Given the description of an element on the screen output the (x, y) to click on. 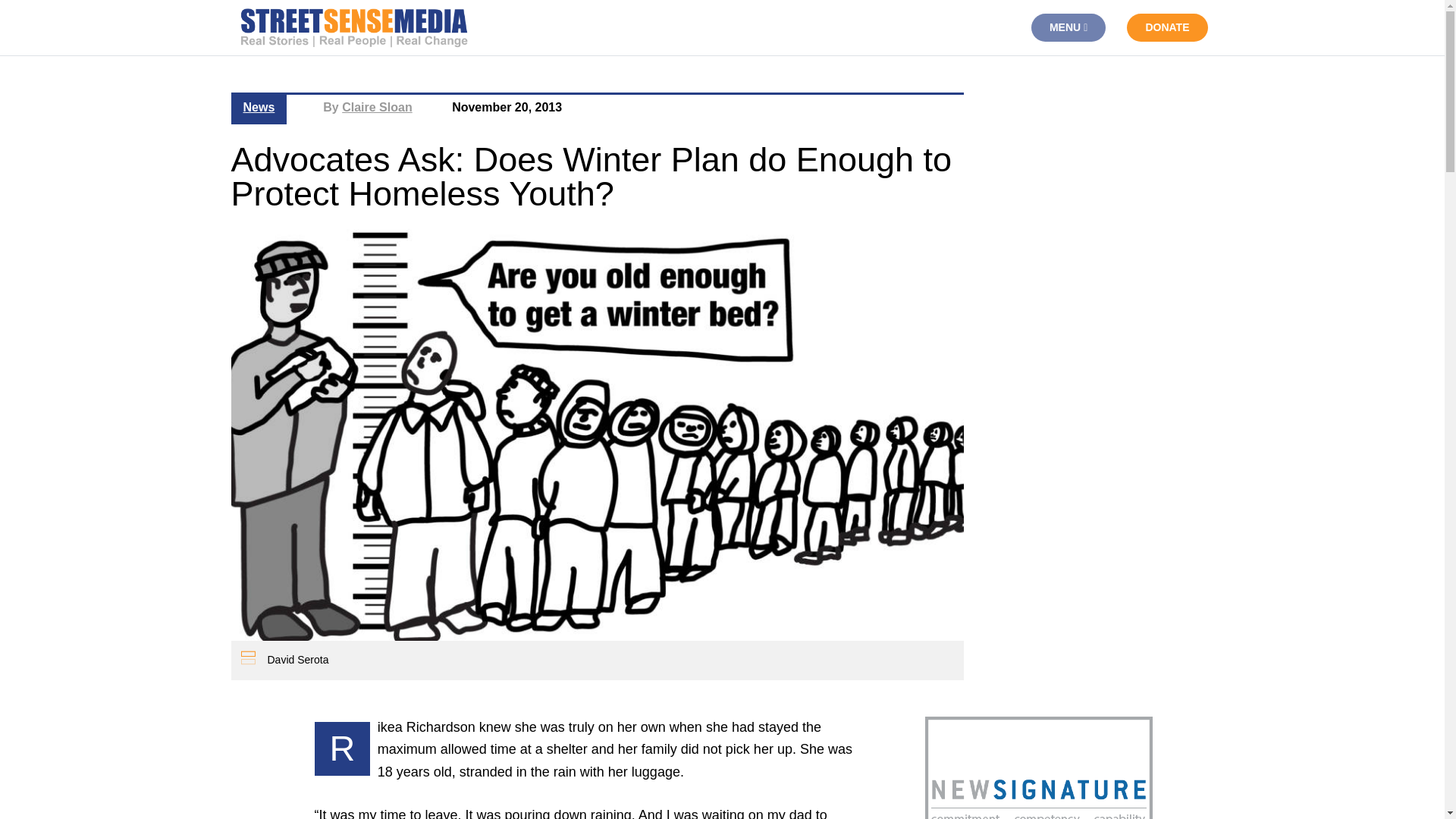
MENU (1067, 27)
News (259, 106)
Claire Sloan (377, 106)
DONATE (1166, 27)
